Given the description of an element on the screen output the (x, y) to click on. 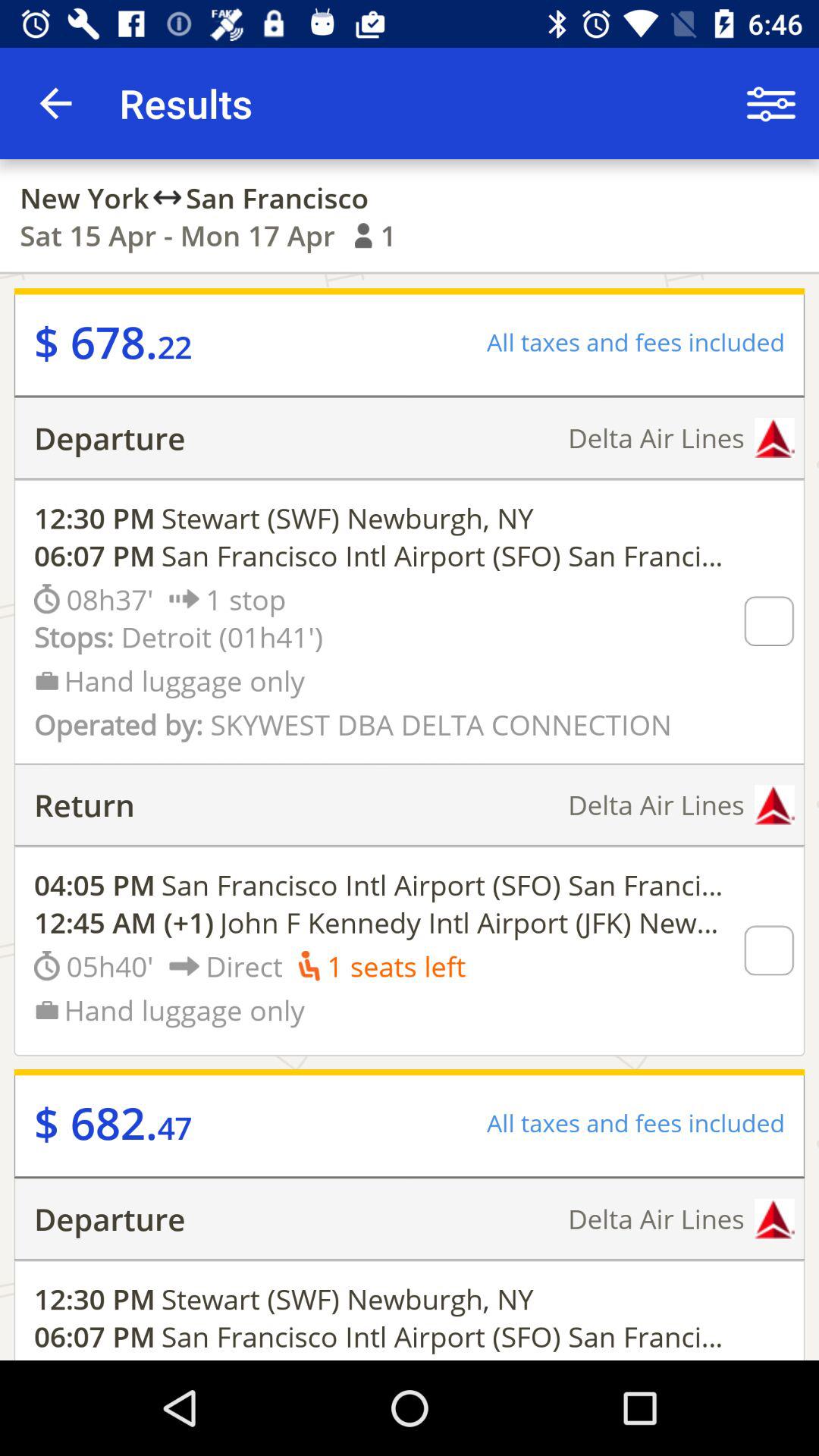
tap the item to the right of results (771, 103)
